Given the description of an element on the screen output the (x, y) to click on. 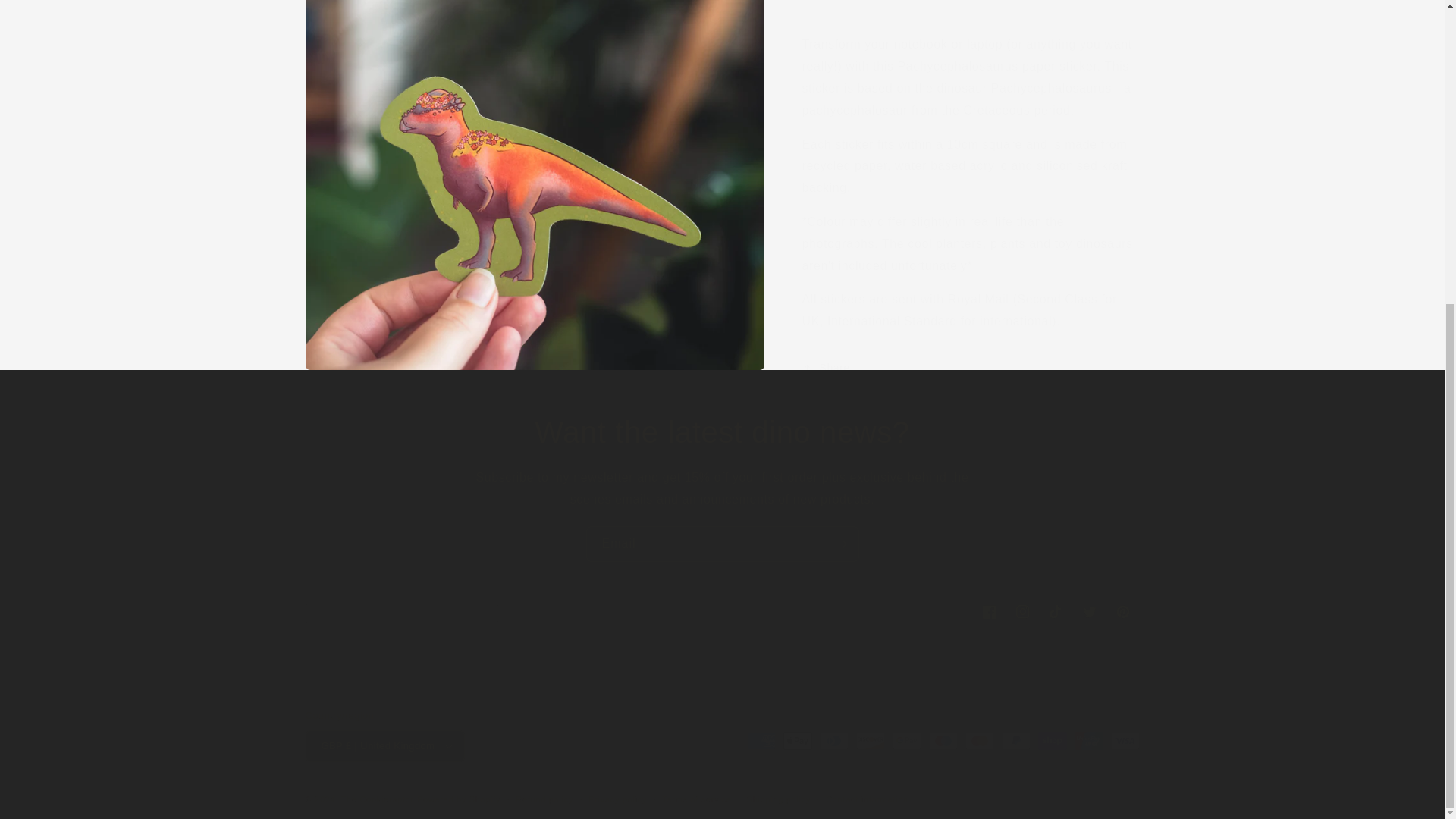
Want the latest dino news? (721, 432)
Open media 1 in modal (721, 611)
Email (533, 59)
